Given the description of an element on the screen output the (x, y) to click on. 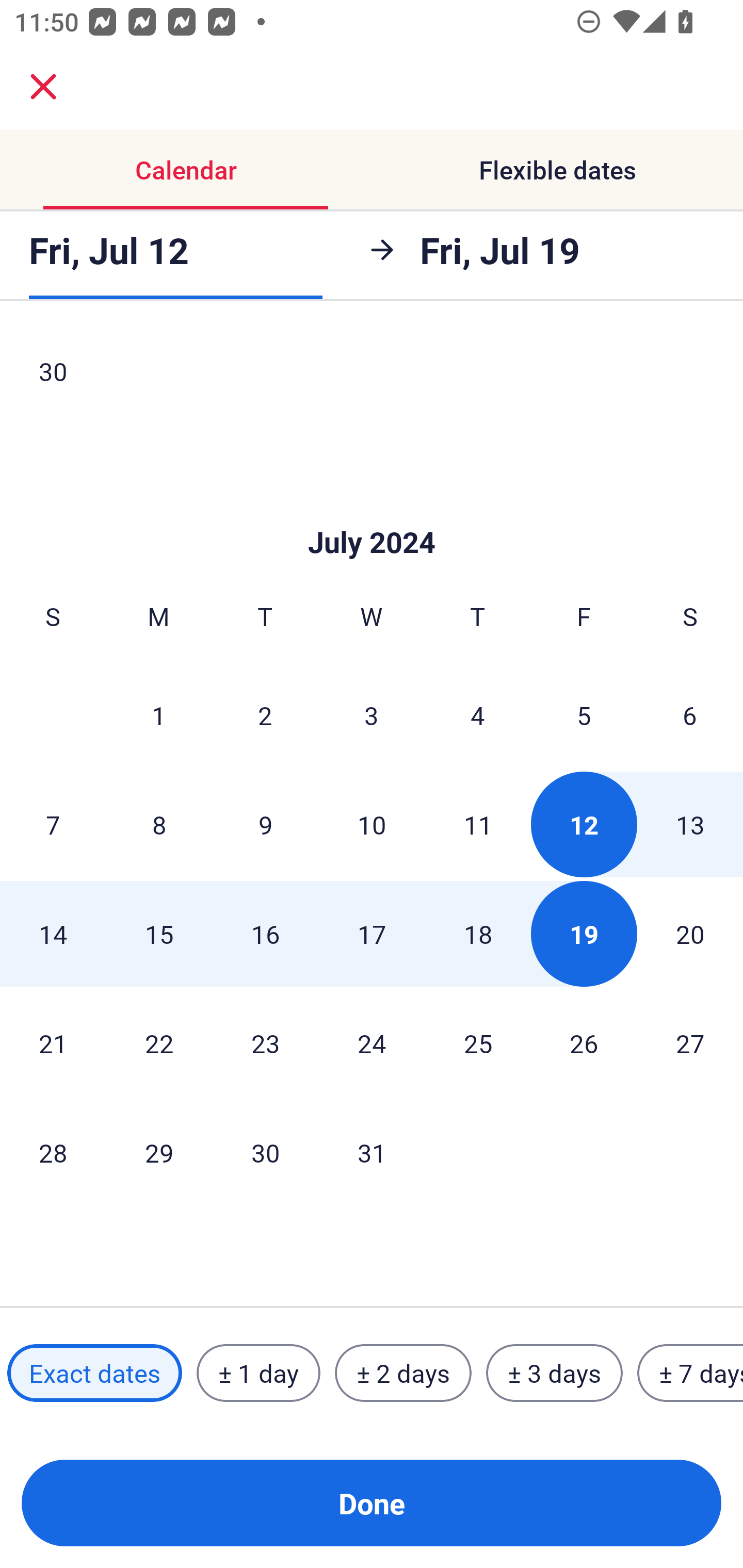
close. (43, 86)
Flexible dates (557, 170)
30 Sunday, June 30, 2024 (53, 376)
Skip to Done (371, 511)
1 Monday, July 1, 2024 (158, 714)
2 Tuesday, July 2, 2024 (264, 714)
3 Wednesday, July 3, 2024 (371, 714)
4 Thursday, July 4, 2024 (477, 714)
5 Friday, July 5, 2024 (583, 714)
6 Saturday, July 6, 2024 (689, 714)
7 Sunday, July 7, 2024 (53, 824)
8 Monday, July 8, 2024 (159, 824)
9 Tuesday, July 9, 2024 (265, 824)
10 Wednesday, July 10, 2024 (371, 824)
11 Thursday, July 11, 2024 (477, 824)
20 Saturday, July 20, 2024 (690, 933)
21 Sunday, July 21, 2024 (53, 1043)
22 Monday, July 22, 2024 (159, 1043)
23 Tuesday, July 23, 2024 (265, 1043)
24 Wednesday, July 24, 2024 (371, 1043)
25 Thursday, July 25, 2024 (477, 1043)
26 Friday, July 26, 2024 (584, 1043)
27 Saturday, July 27, 2024 (690, 1043)
28 Sunday, July 28, 2024 (53, 1152)
29 Monday, July 29, 2024 (159, 1152)
30 Tuesday, July 30, 2024 (265, 1152)
31 Wednesday, July 31, 2024 (371, 1152)
Exact dates (94, 1372)
± 1 day (258, 1372)
± 2 days (403, 1372)
± 3 days (553, 1372)
± 7 days (690, 1372)
Done (371, 1502)
